Given the description of an element on the screen output the (x, y) to click on. 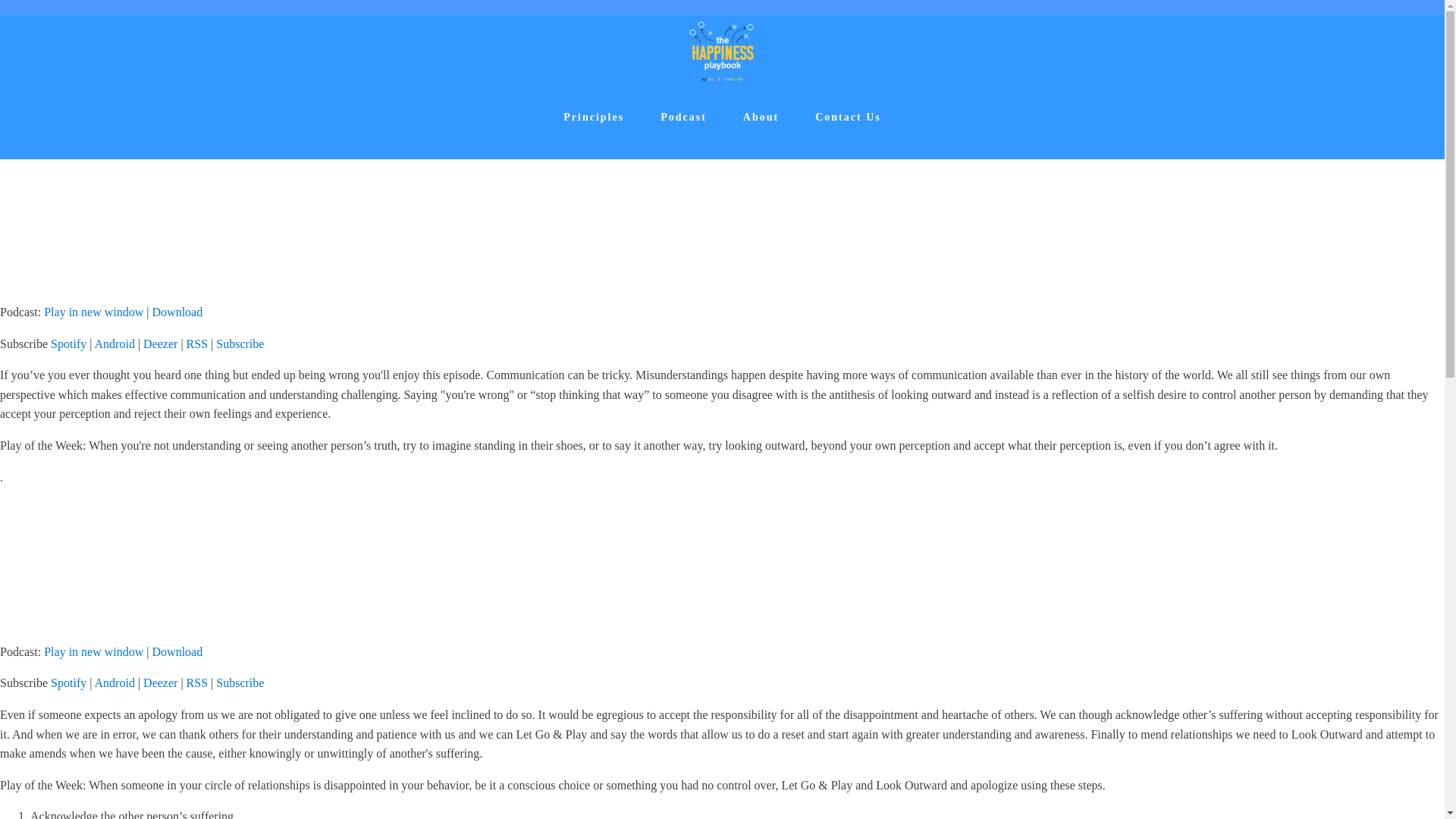
Subscribe on Deezer (159, 682)
Subscribe (239, 682)
Contact Us (847, 117)
Subscribe on Spotify (67, 343)
Subscribe on Deezer (159, 343)
Podcast (683, 117)
Subscribe on Spotify (67, 682)
RSS (197, 343)
About (760, 117)
Download (177, 651)
Play in new window (92, 311)
Spotify (67, 682)
Subscribe via RSS (197, 343)
Download (177, 651)
RSS (197, 682)
